Given the description of an element on the screen output the (x, y) to click on. 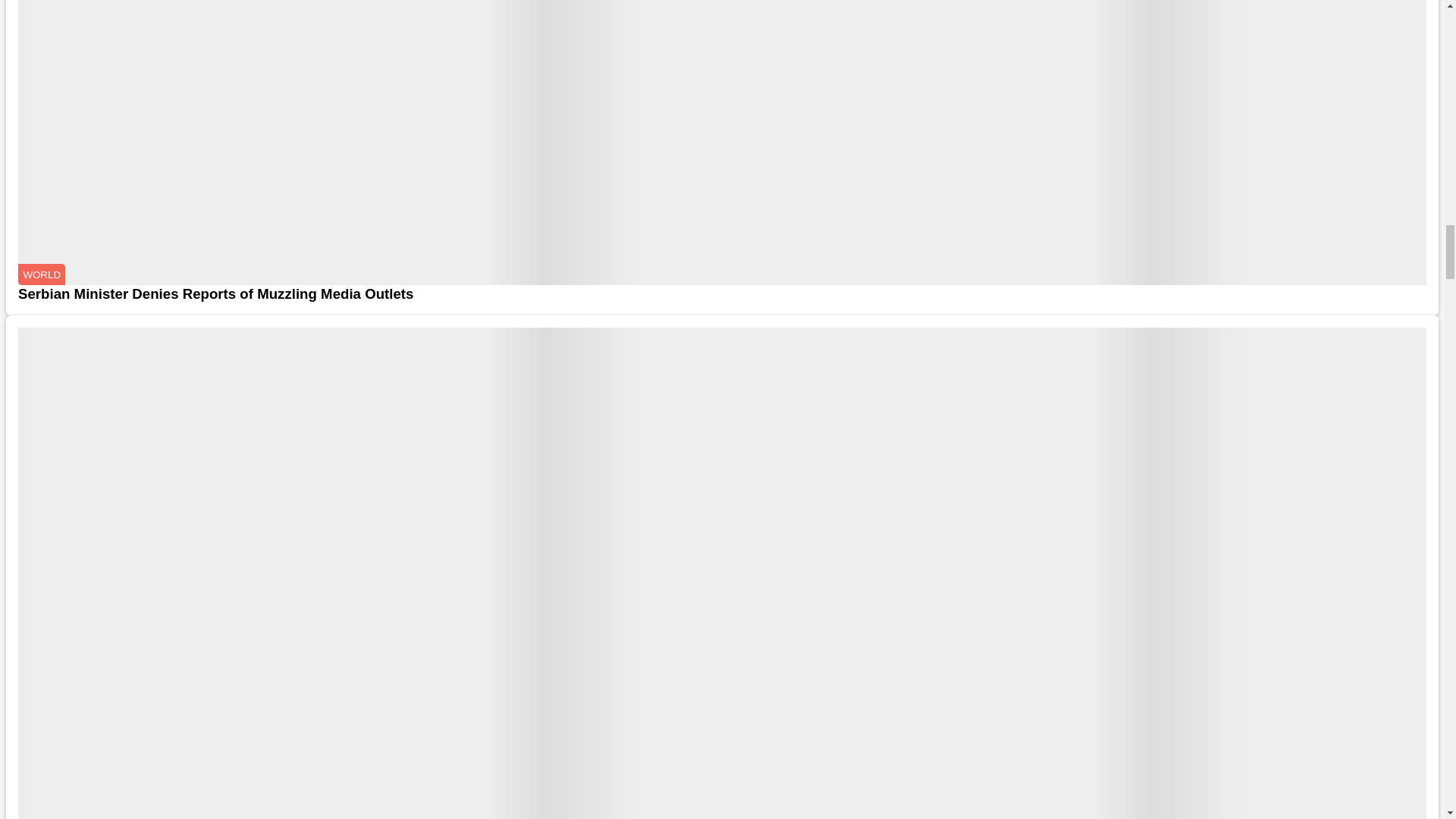
Serbian Minister Denies Reports of Muzzling Media Outlets  (721, 294)
WORLD (41, 274)
